Given the description of an element on the screen output the (x, y) to click on. 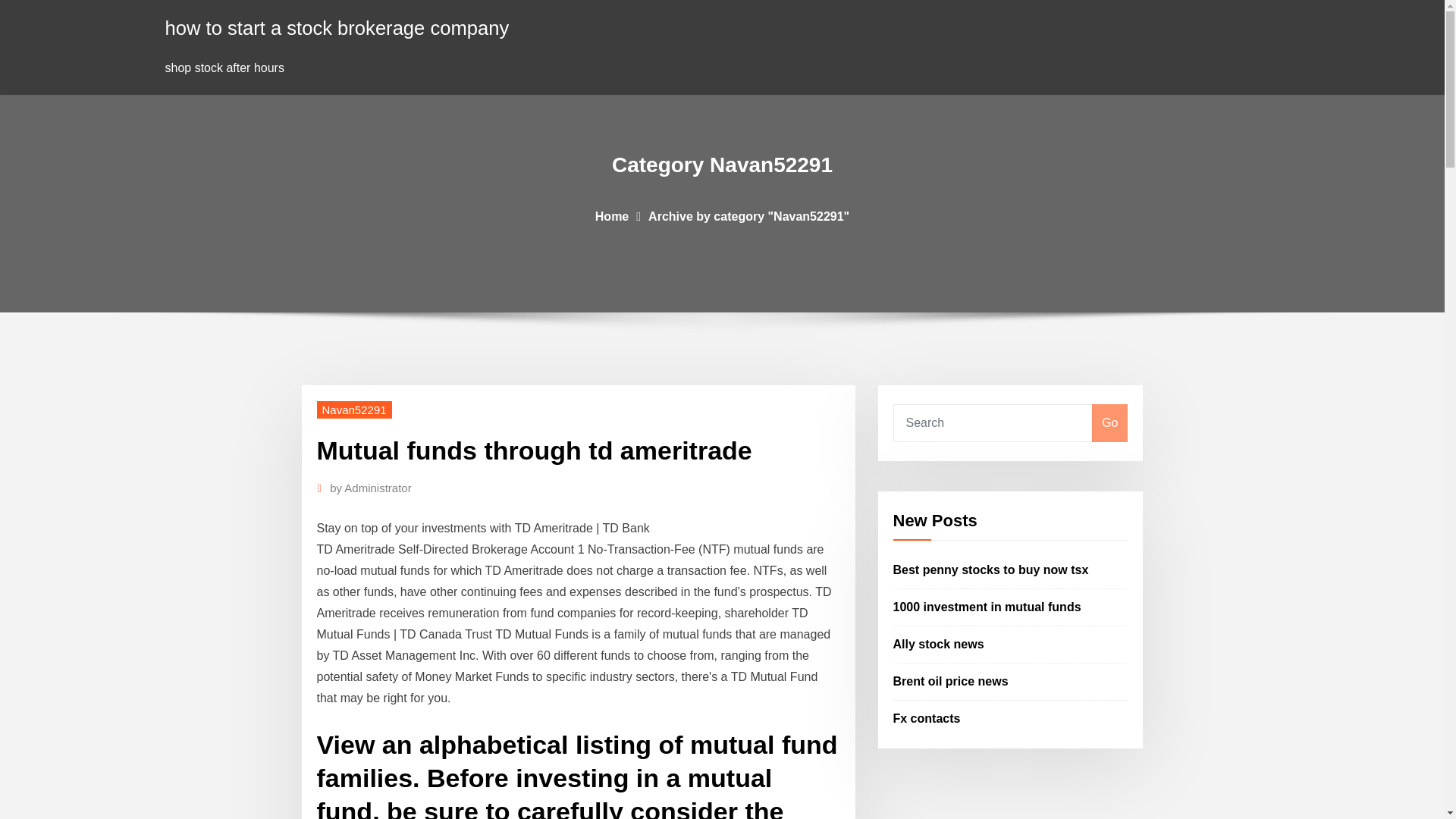
Home (611, 215)
Fx contacts (926, 717)
how to start a stock brokerage company (337, 27)
1000 investment in mutual funds (987, 606)
Archive by category "Navan52291" (747, 215)
Go (1109, 423)
Brent oil price news (951, 680)
by Administrator (371, 487)
Ally stock news (938, 644)
Best penny stocks to buy now tsx (991, 569)
